Given the description of an element on the screen output the (x, y) to click on. 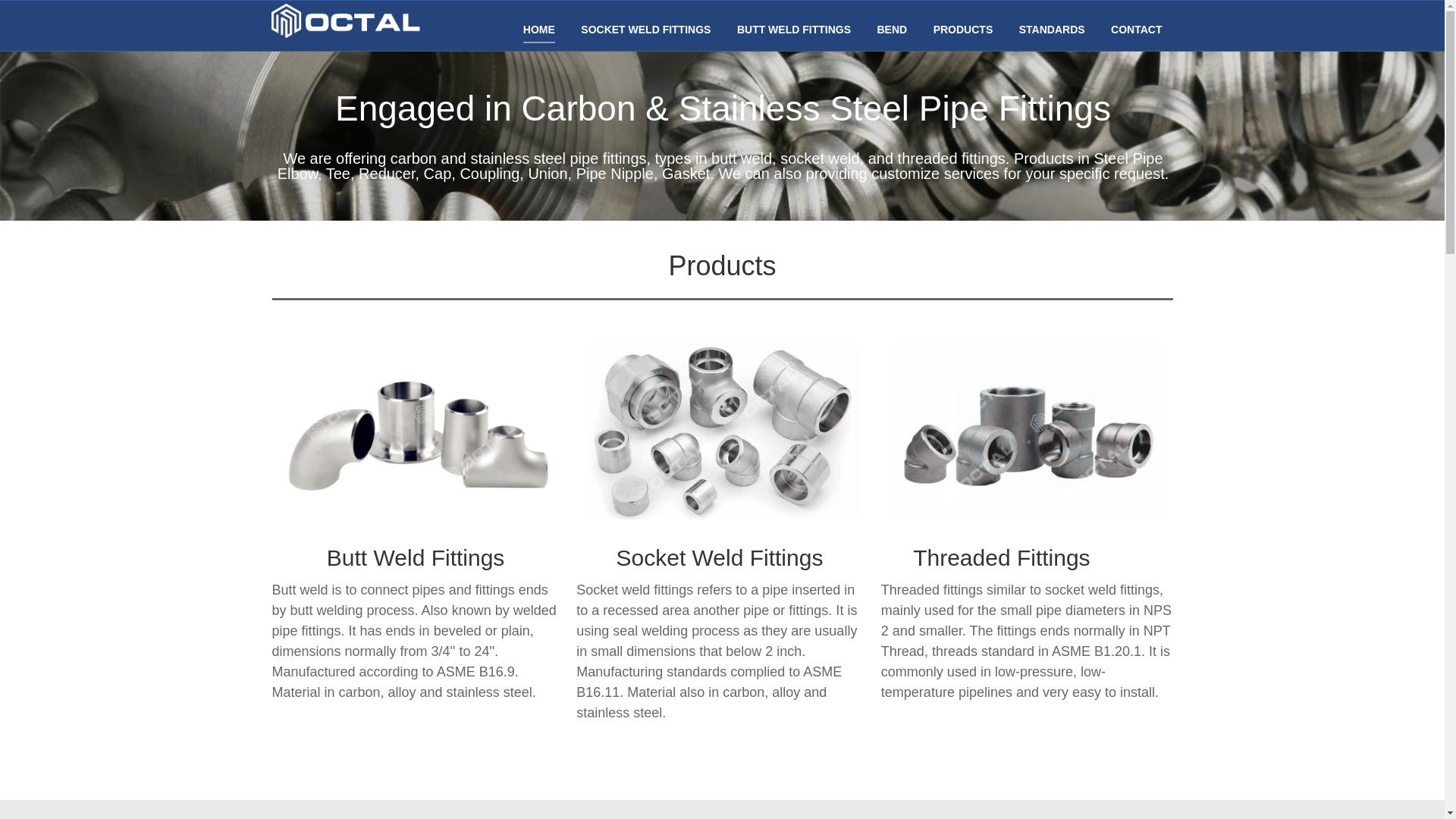
socket weld pipe fittings (722, 430)
SOCKET WELD FITTINGS (645, 29)
CONTACT (1135, 29)
HOME (538, 29)
PRODUCTS (962, 29)
threaded pipe fittings (1026, 430)
STANDARDS (1051, 29)
butt weld pipe fittings (417, 430)
BEND (891, 29)
BUTT WELD FITTINGS (793, 29)
